Given the description of an element on the screen output the (x, y) to click on. 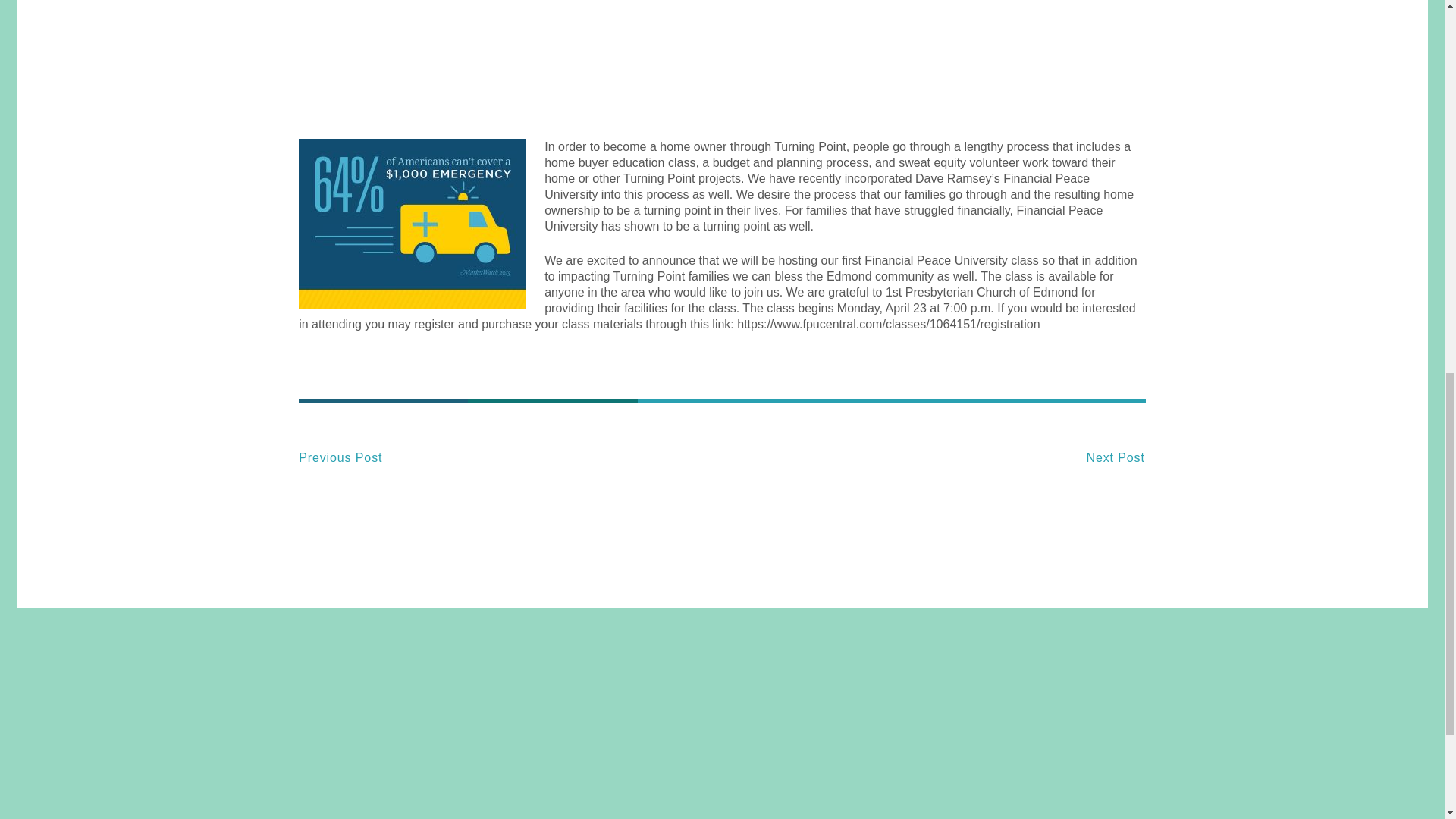
Previous Post (510, 457)
Next Post (933, 457)
